Given the description of an element on the screen output the (x, y) to click on. 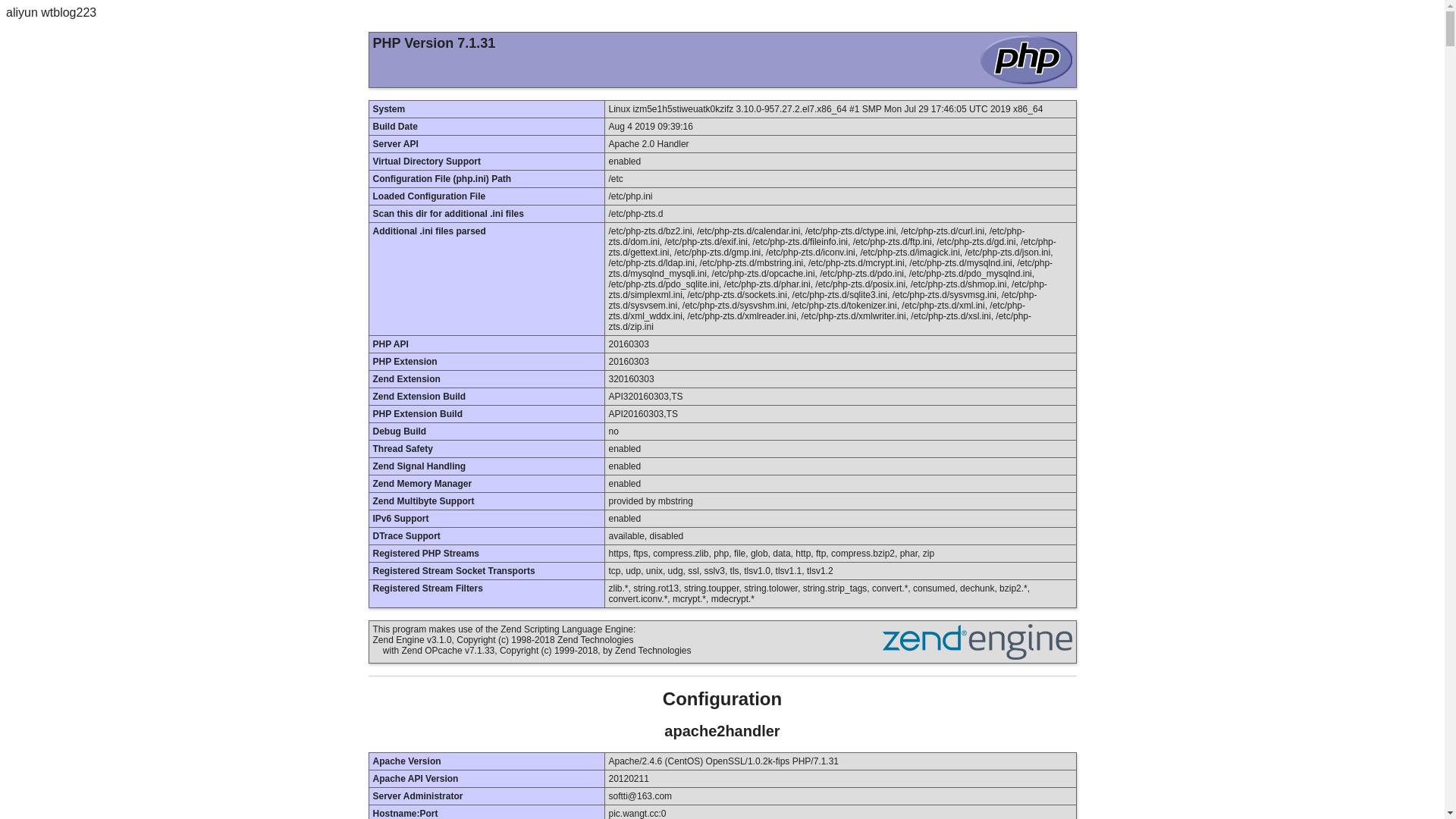
apache2handler Element type: text (721, 730)
